Given the description of an element on the screen output the (x, y) to click on. 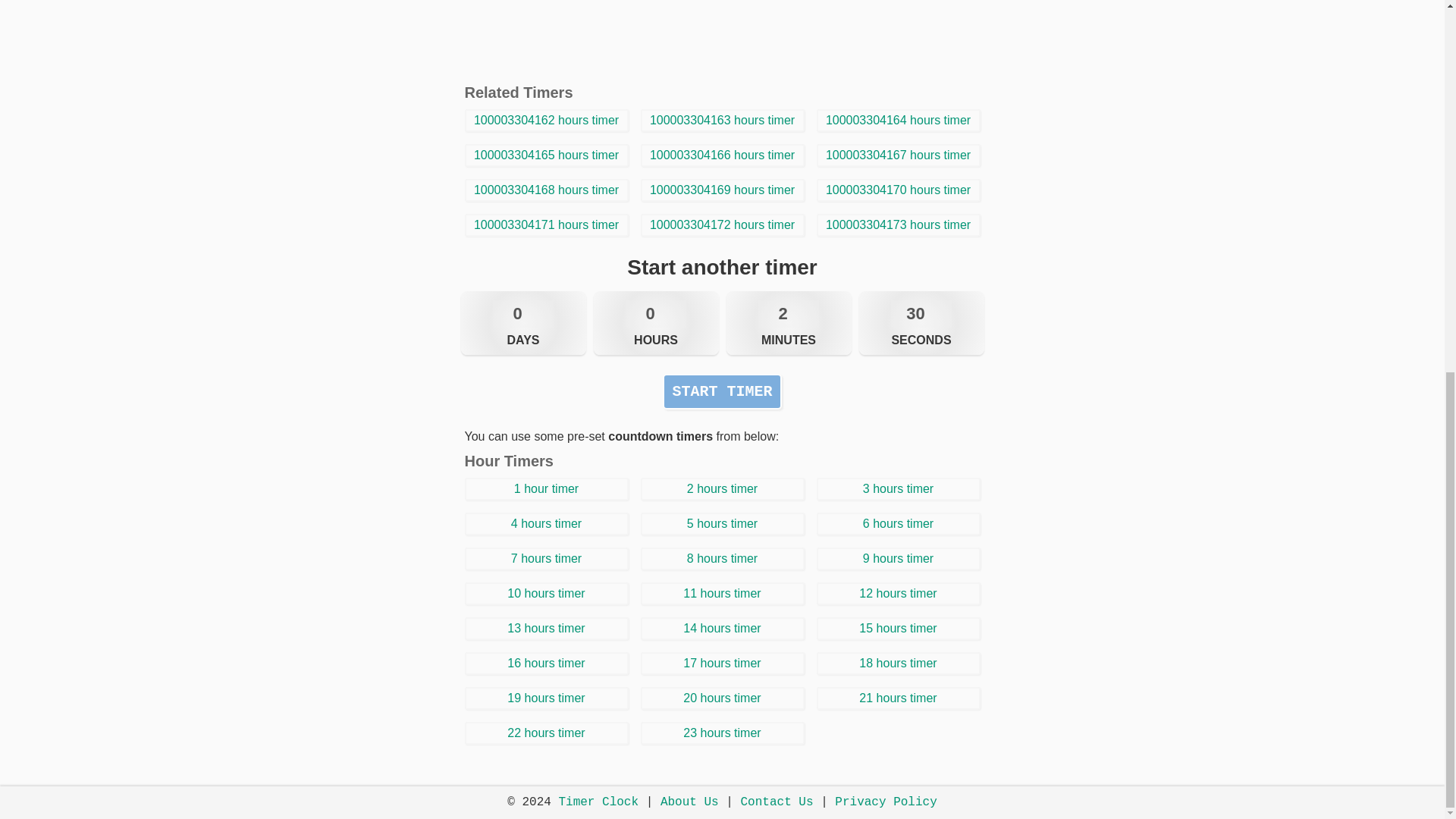
20 hours timer (721, 698)
21 hours timer (897, 698)
0 (655, 313)
18 hours timer (897, 662)
19 hours timer (545, 698)
13 hours timer (545, 628)
2 hours timer (721, 488)
2 (788, 313)
16 hours timer (545, 662)
1 hour timer (545, 488)
